Given the description of an element on the screen output the (x, y) to click on. 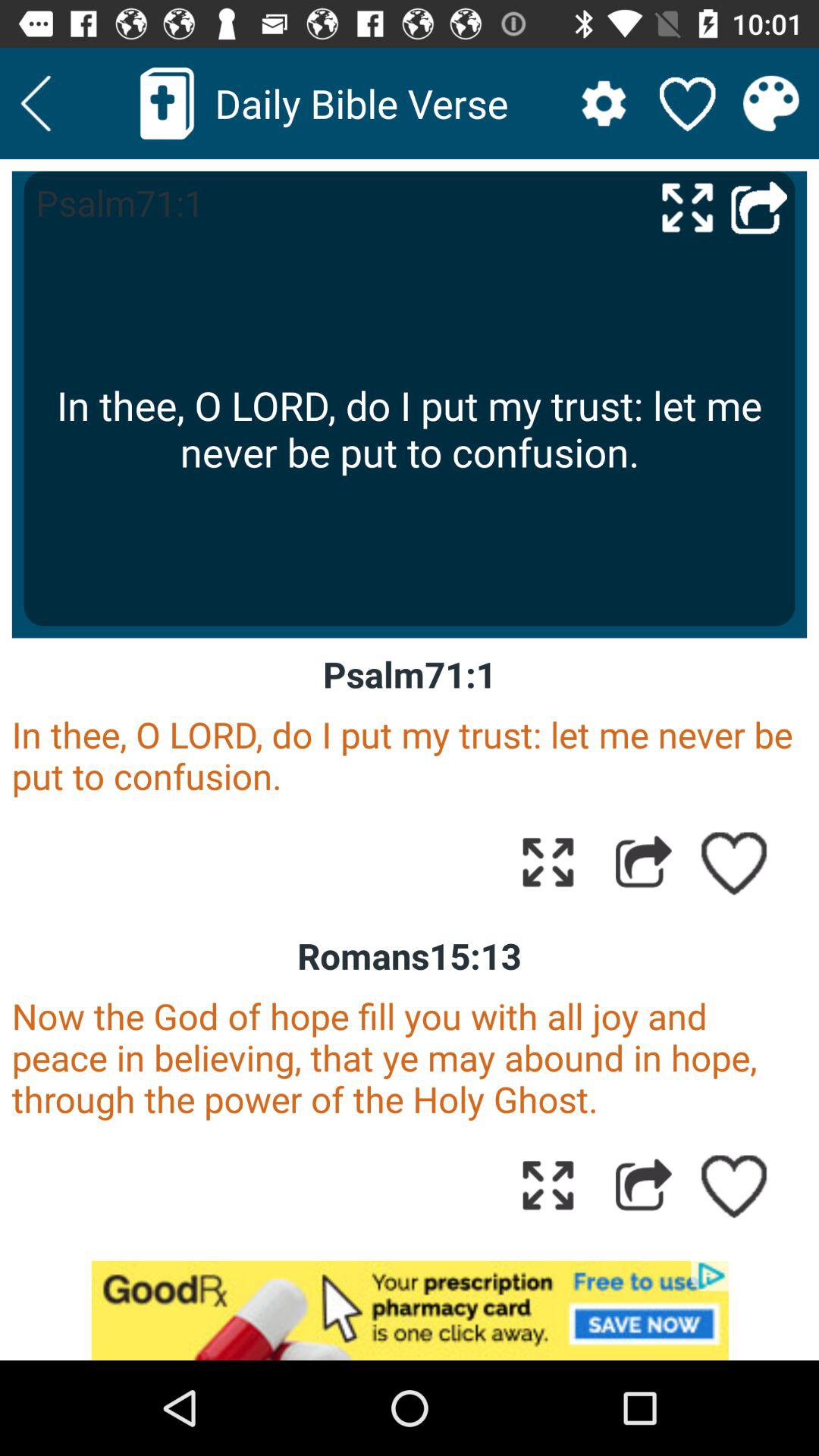
forward verse (643, 861)
